Given the description of an element on the screen output the (x, y) to click on. 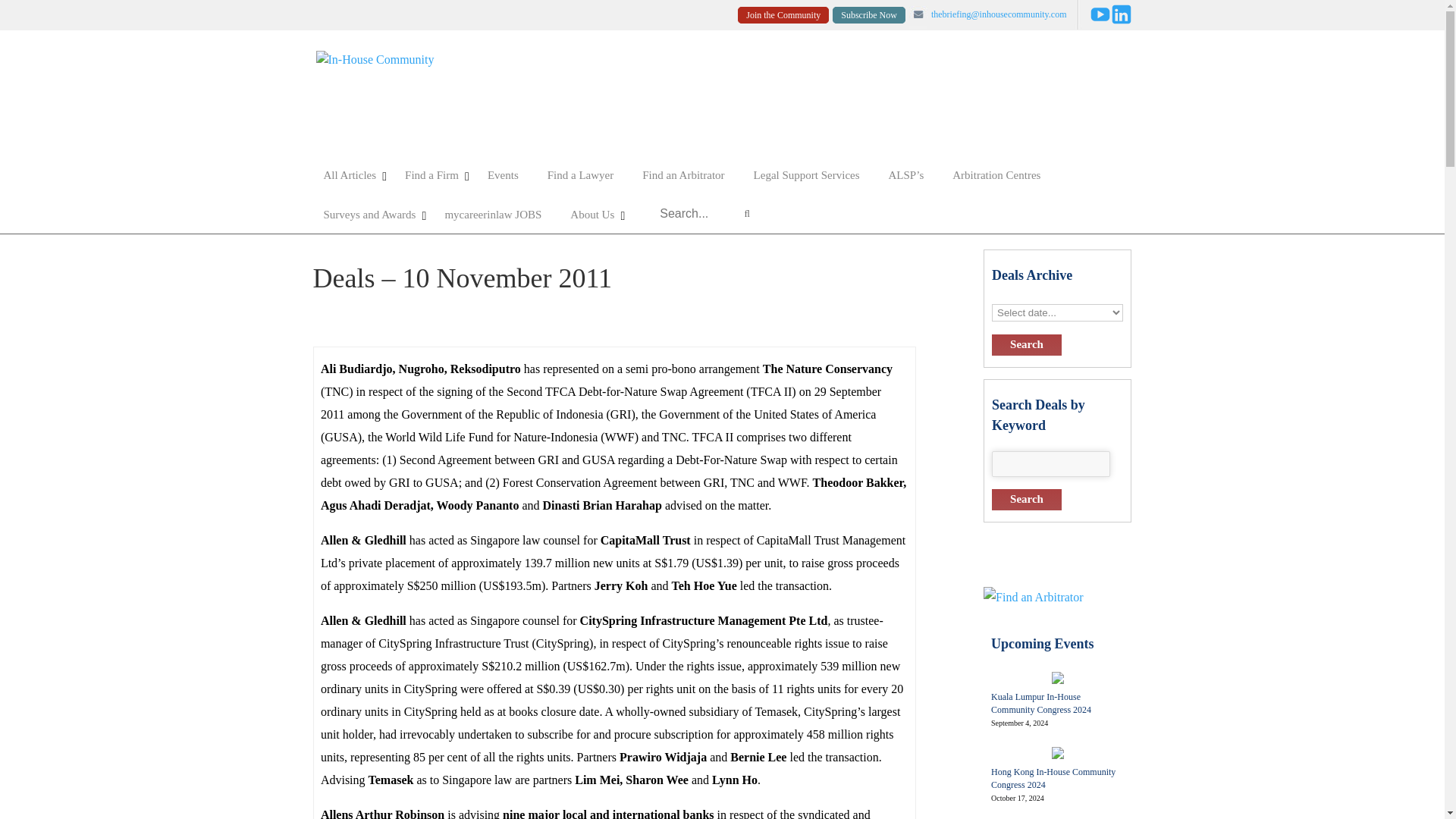
Subscribe Now (868, 14)
Join the Community (783, 14)
Search (1026, 499)
Search (1026, 344)
